Given the description of an element on the screen output the (x, y) to click on. 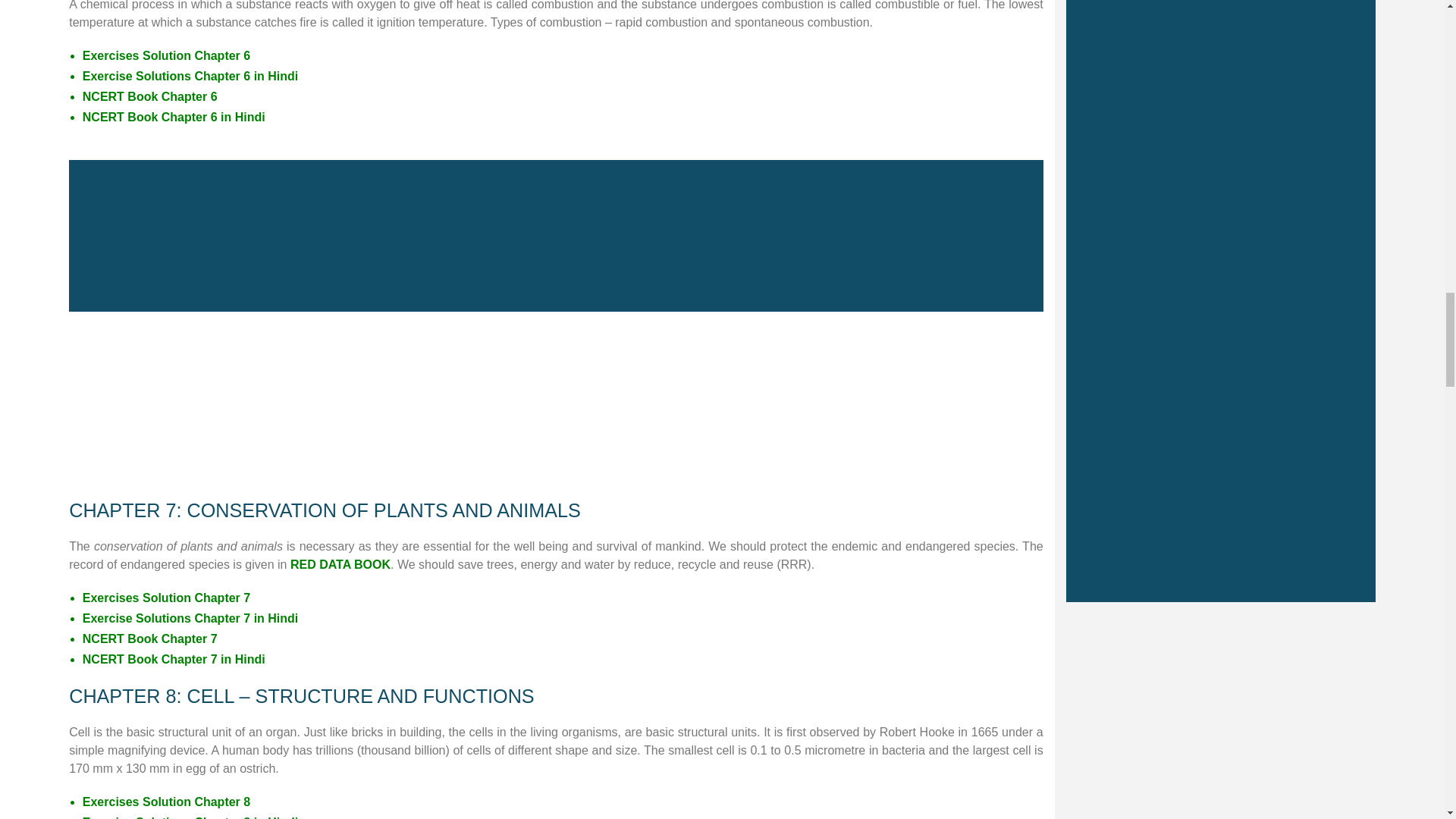
Exercise Solutions Chapter 6 in Hindi (190, 75)
NCERT Book Chapter 6 (149, 96)
Exercises Solution Chapter 6 (166, 55)
